Given the description of an element on the screen output the (x, y) to click on. 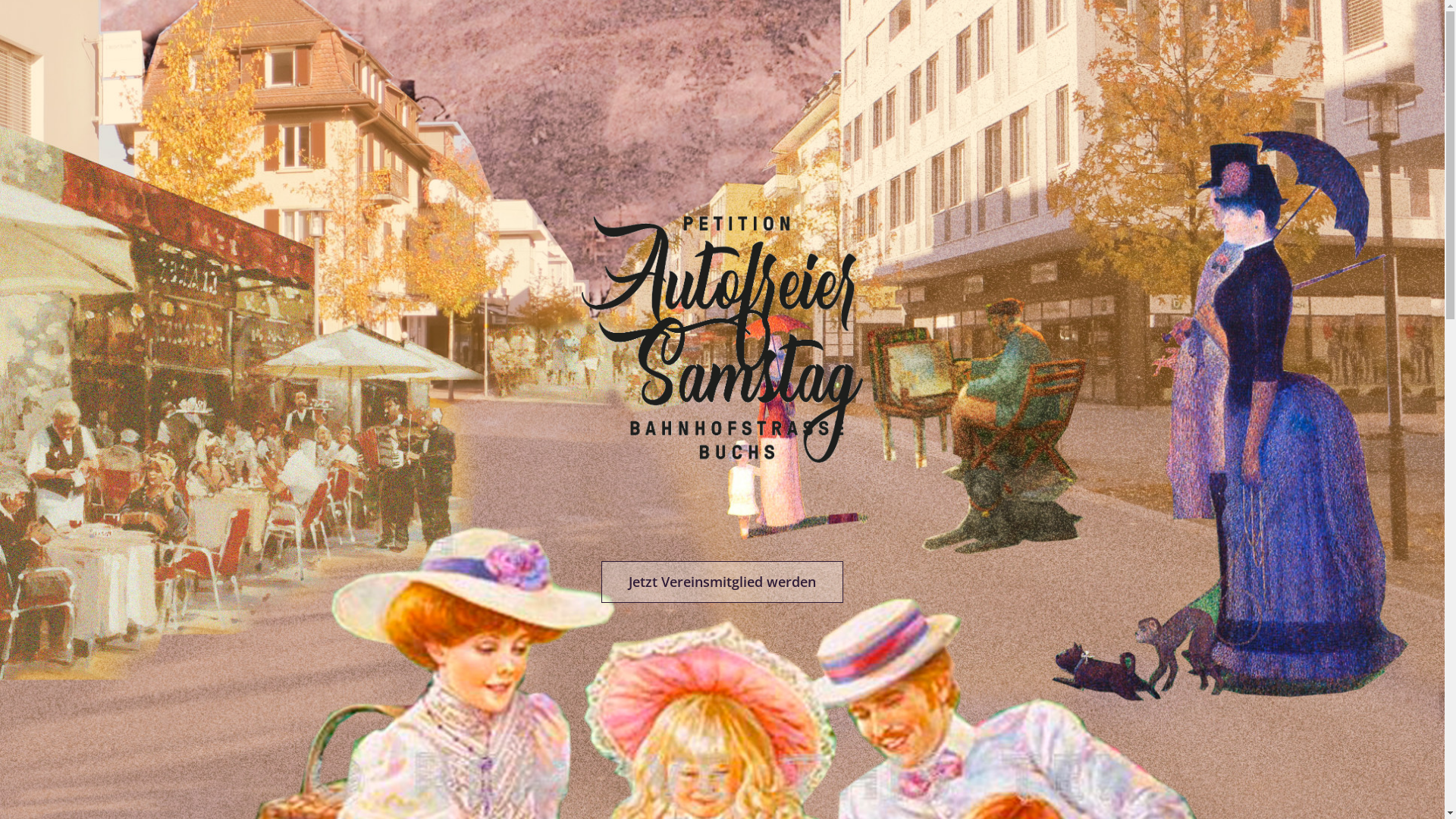
Jetzt Vereinsmitglied werden Element type: text (722, 581)
